Given the description of an element on the screen output the (x, y) to click on. 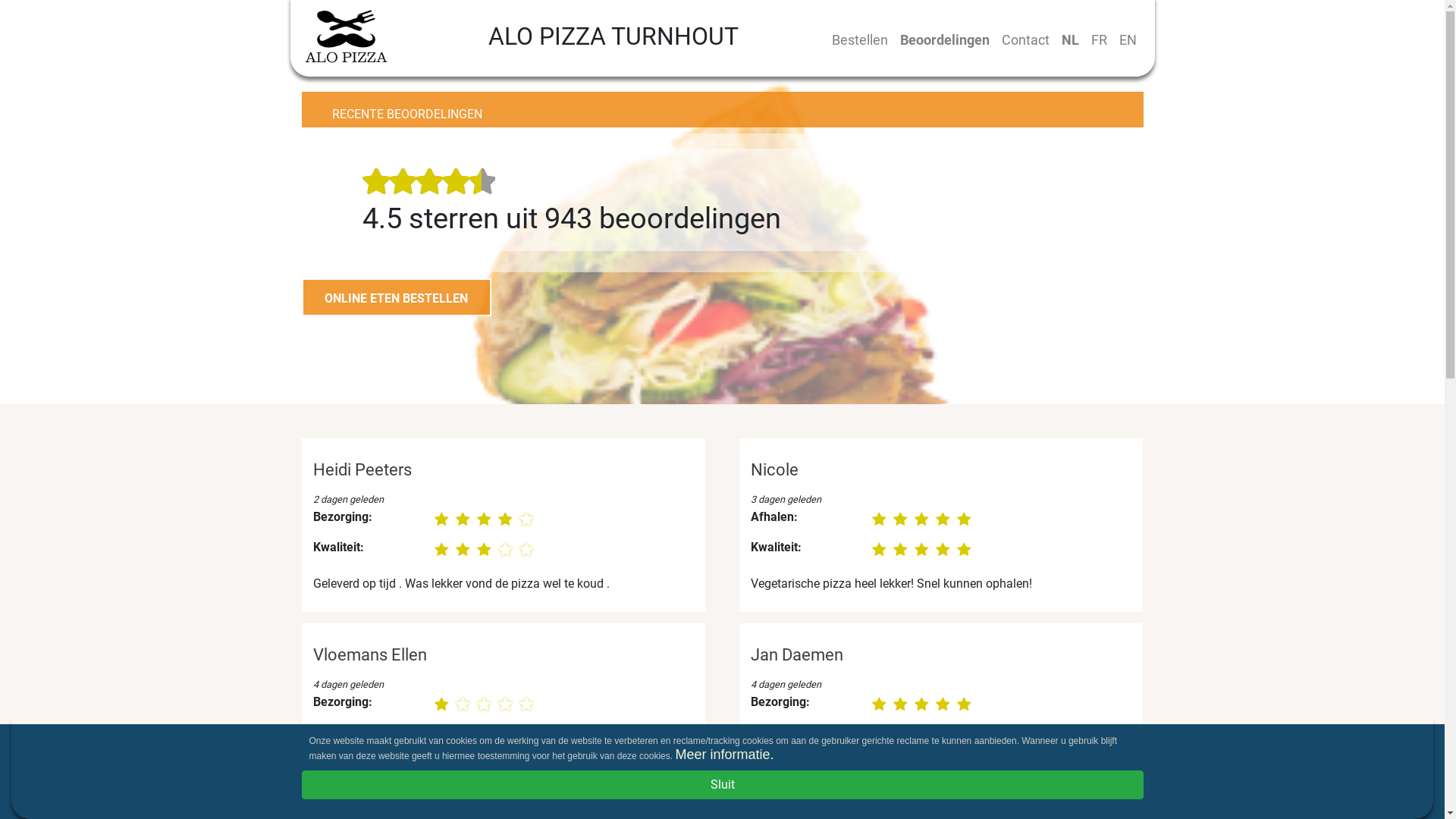
NL Element type: text (1070, 39)
Bestellen Element type: text (859, 39)
ONLINE ETEN BESTELLEN Element type: text (396, 297)
EN Element type: text (1127, 39)
Beoordelingen Element type: text (943, 39)
Sluit Element type: text (722, 784)
Meer informatie. Element type: text (723, 754)
Contact Element type: text (1024, 39)
FR Element type: text (1098, 39)
